Given the description of an element on the screen output the (x, y) to click on. 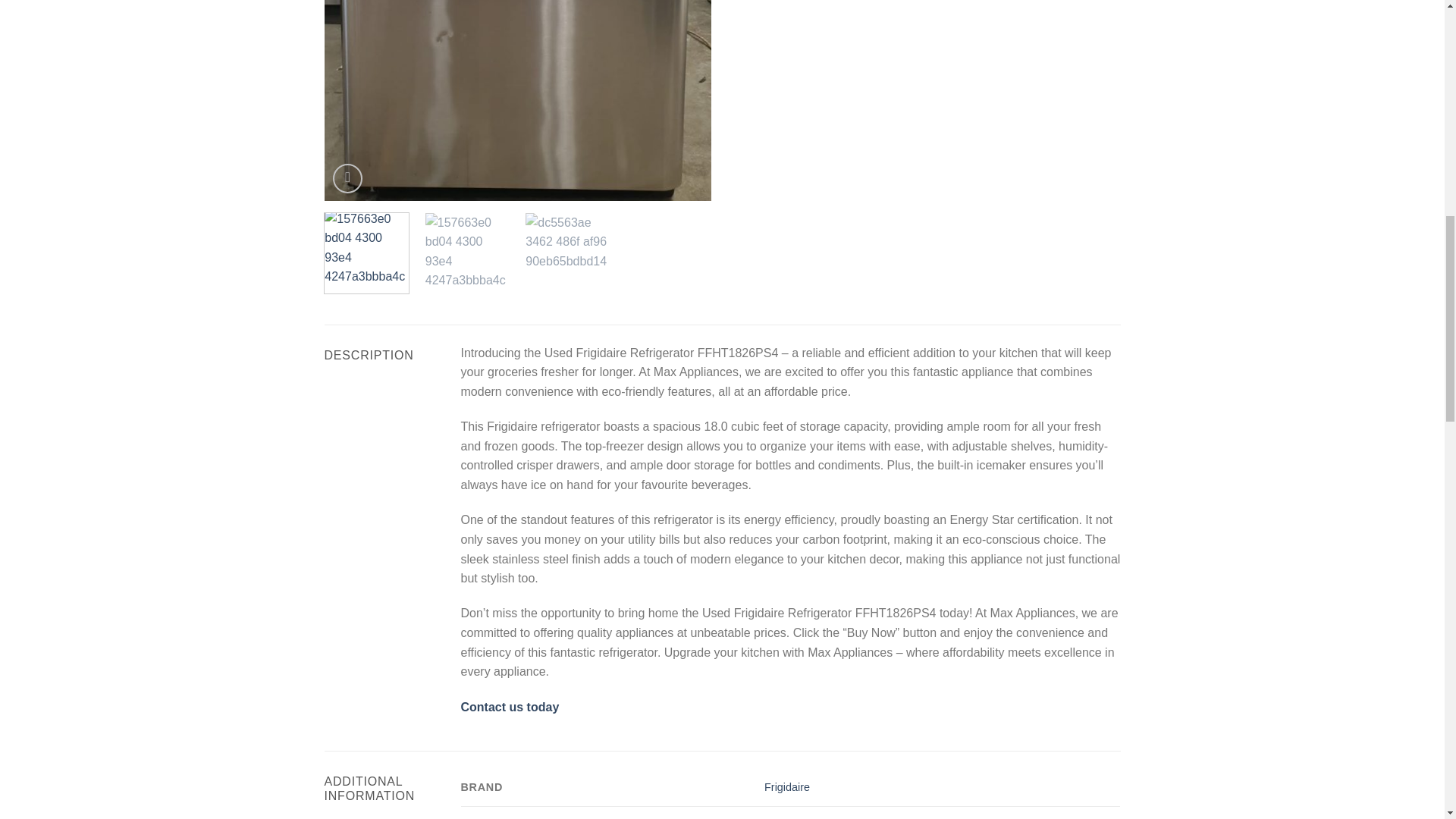
Used Frigidaire Refrigerator FFHT1826PS4 (517, 99)
Used Frigidaire Refrigerator FFHT1826PS4 (904, 99)
Zoom (347, 178)
